Given the description of an element on the screen output the (x, y) to click on. 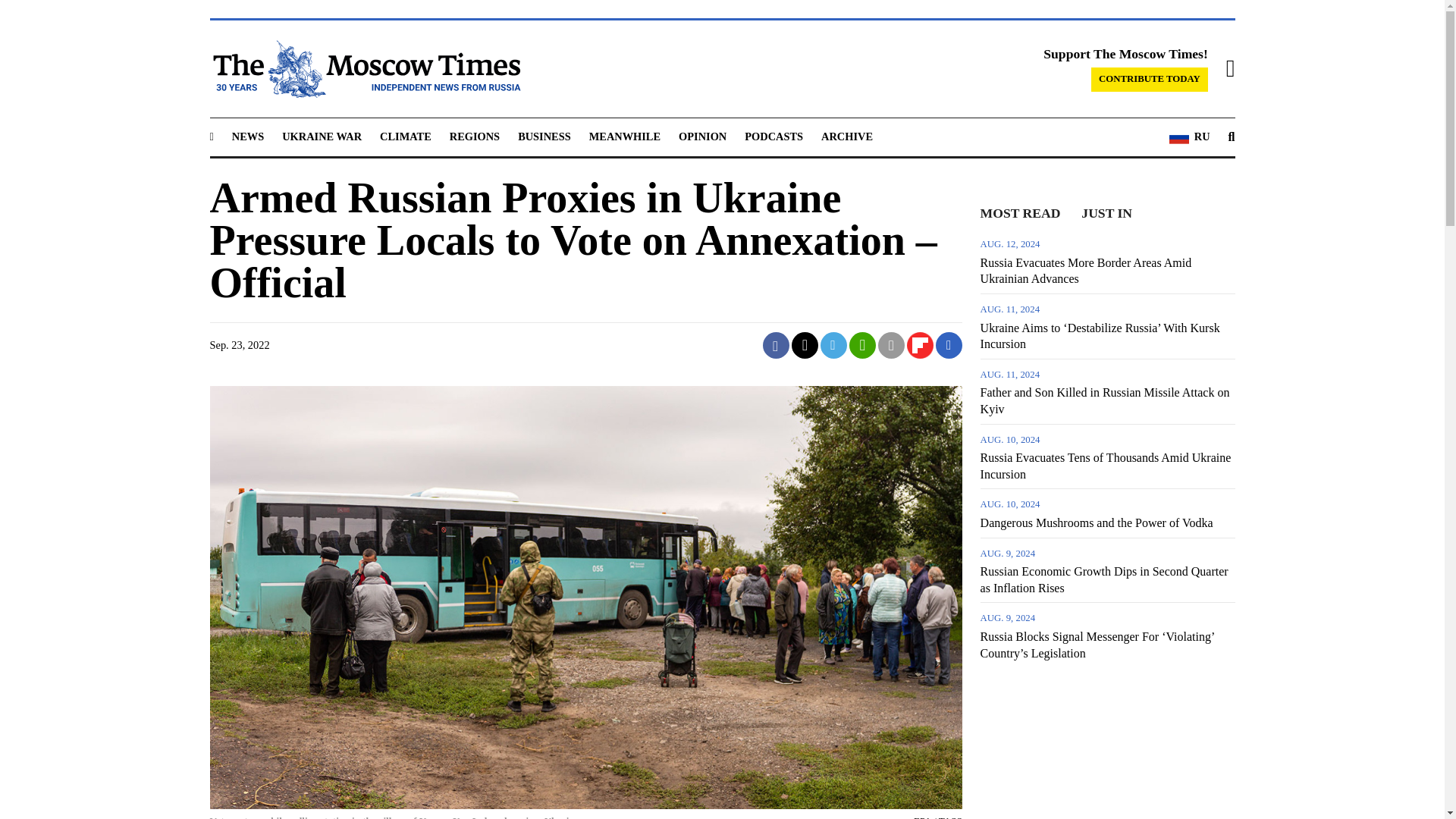
BUSINESS (544, 136)
REGIONS (474, 136)
PODCASTS (773, 136)
UKRAINE WAR (321, 136)
Share on Flipboard (920, 345)
ARCHIVE (846, 136)
Share on Facebook (775, 345)
CLIMATE (405, 136)
OPINION (702, 136)
Share on Telegram (834, 345)
